Given the description of an element on the screen output the (x, y) to click on. 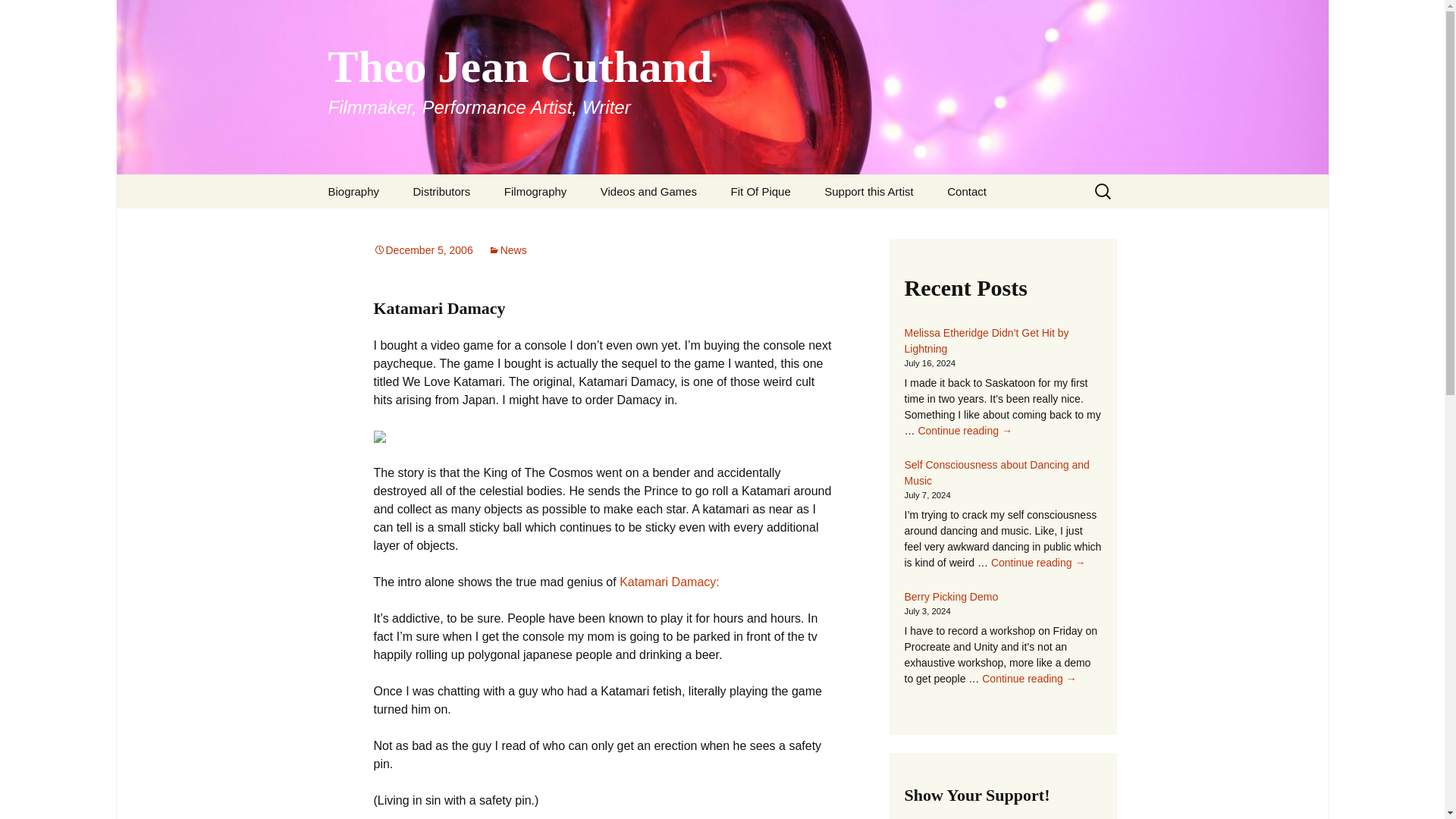
Filmography (535, 191)
Distributors (440, 191)
Self Consciousness about Dancing and Music (996, 472)
Videos and Games (648, 191)
News (507, 250)
Biography (353, 191)
Contact (966, 191)
Berry Picking Demo (950, 596)
Search (18, 15)
Support this Artist (868, 191)
Katamari Damacy: (669, 581)
December 5, 2006 (421, 250)
